Given the description of an element on the screen output the (x, y) to click on. 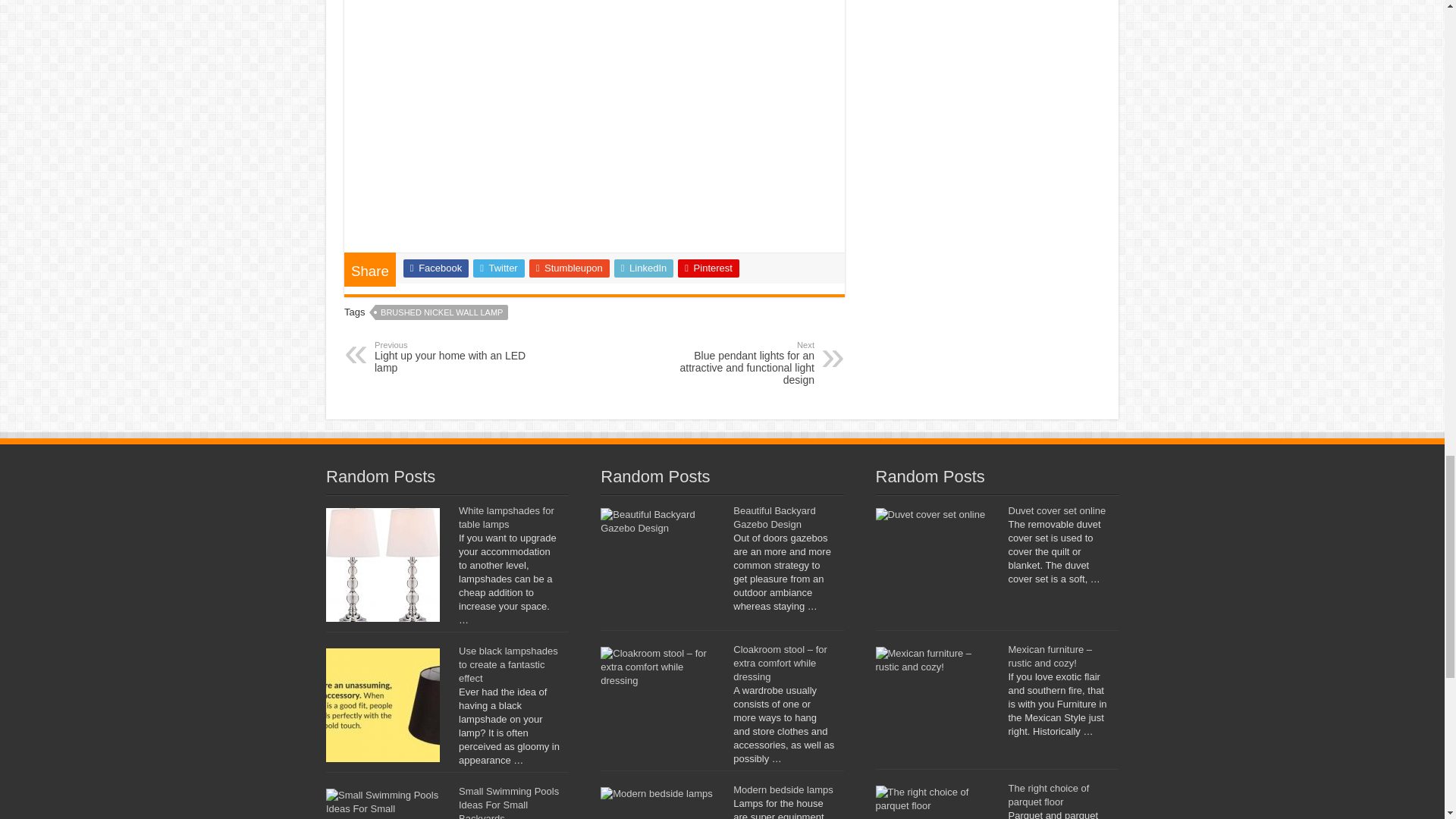
Duvet cover set online (1057, 510)
Small Swimming Pools Ideas For Small Backyards (508, 802)
Modern bedside lamps (782, 789)
LinkedIn (644, 268)
Facebook (435, 268)
Use black lampshades to create a fantastic effect (507, 664)
BRUSHED NICKEL WALL LAMP (441, 312)
White lampshades for table lamps (506, 517)
Stumbleupon (569, 268)
Beautiful Backyard Gazebo Design (774, 517)
Pinterest (708, 268)
Twitter (451, 356)
